Given the description of an element on the screen output the (x, y) to click on. 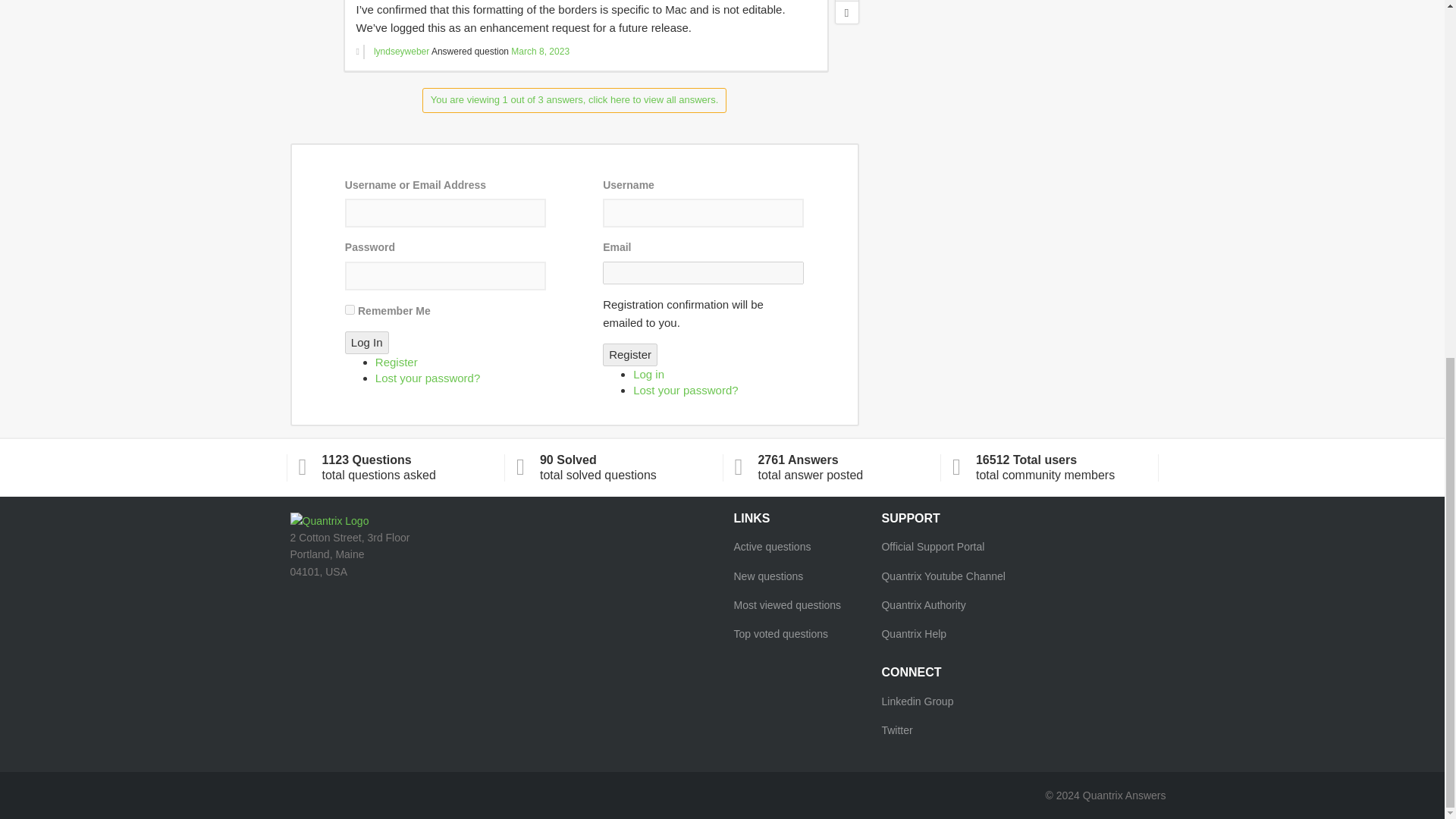
Down vote this post (847, 11)
forever (350, 309)
